Given the description of an element on the screen output the (x, y) to click on. 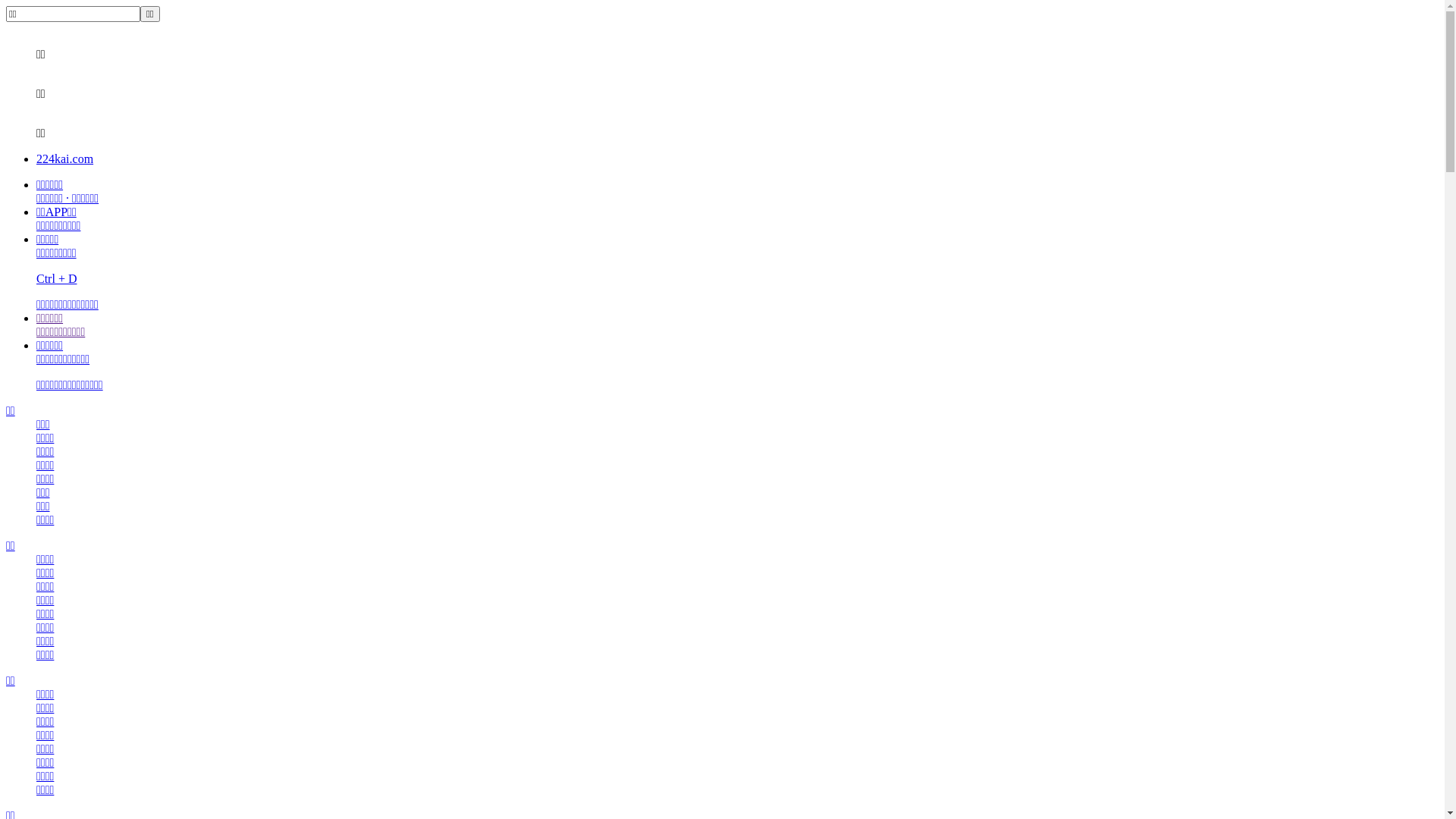
224kai.com Element type: text (64, 158)
